Given the description of an element on the screen output the (x, y) to click on. 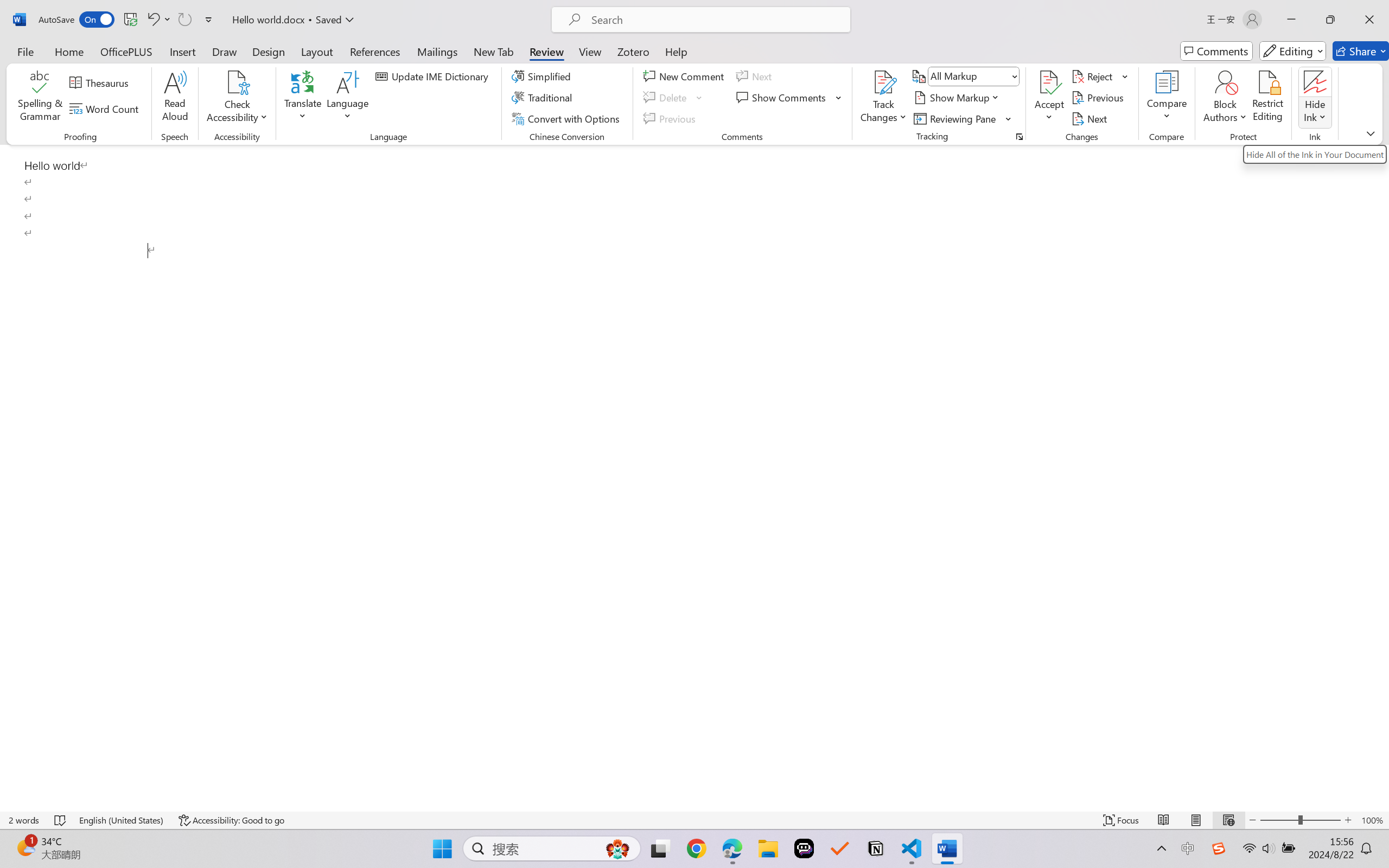
Restrict Editing (1267, 97)
Microsoft search (715, 19)
Previous (1099, 97)
Read Mode (1163, 819)
Reject (1100, 75)
New Tab (493, 51)
Class: MsoCommandBar (694, 819)
Check Accessibility (237, 81)
Focus  (1121, 819)
More Options (1315, 112)
New Comment (685, 75)
Read Aloud (174, 97)
Insert (182, 51)
Zoom 100% (1372, 819)
Class: Image (1218, 847)
